Given the description of an element on the screen output the (x, y) to click on. 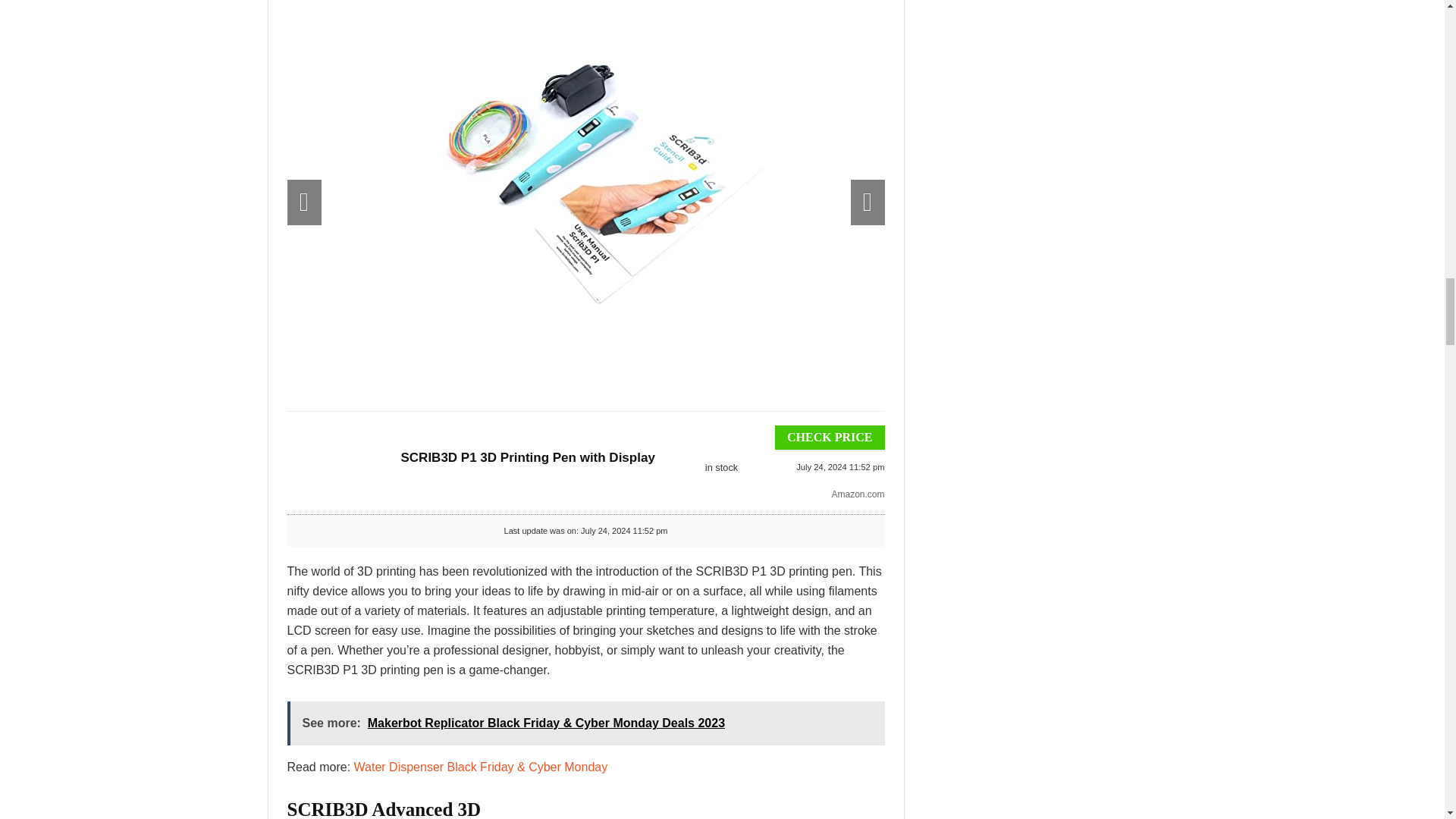
Last update was in: July 24, 2024 11:52 pm (720, 467)
